Given the description of an element on the screen output the (x, y) to click on. 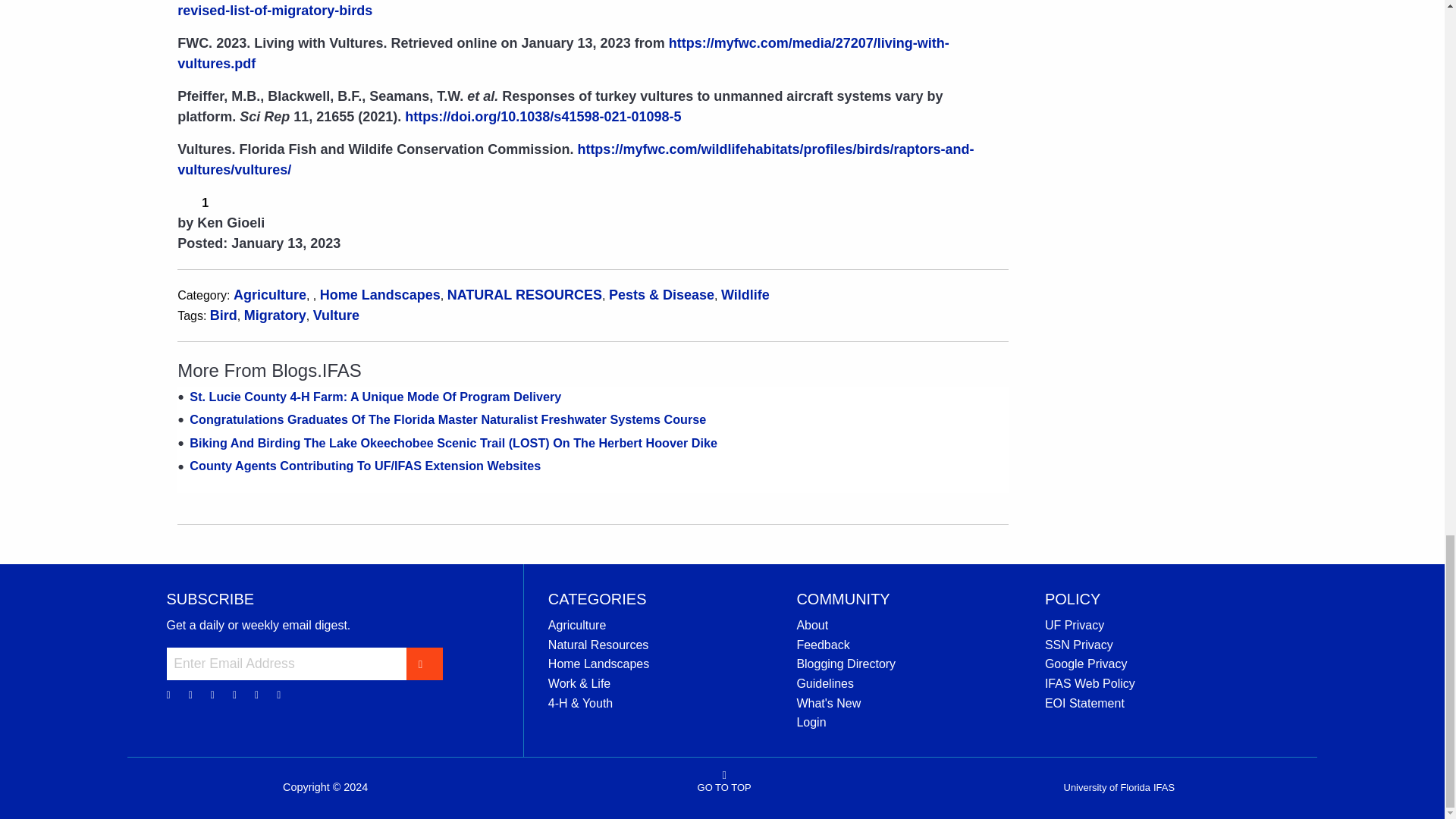
I found this post helpful (186, 201)
Enter Email Address (287, 663)
